Given the description of an element on the screen output the (x, y) to click on. 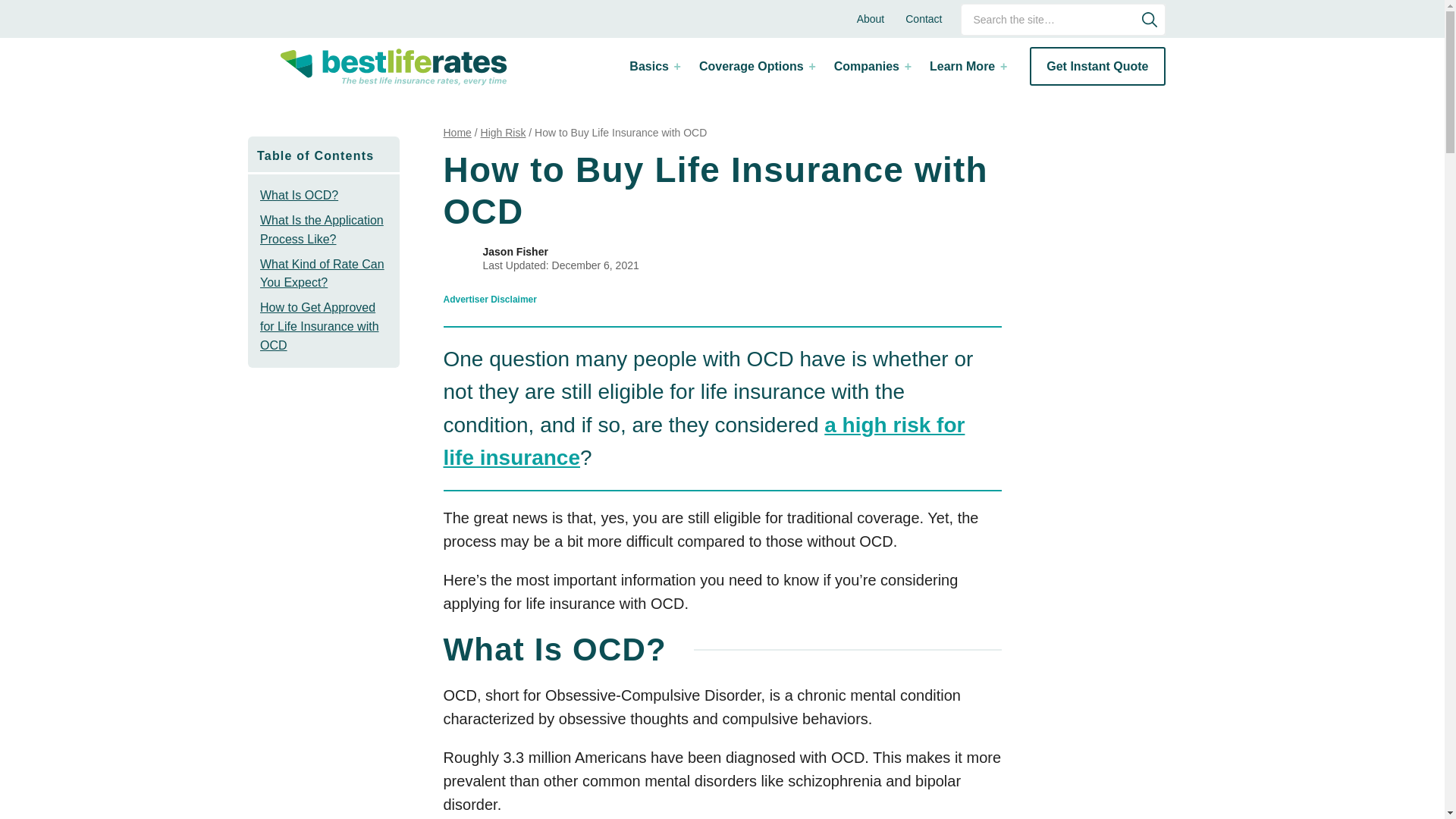
BestLifeRates.org (392, 66)
Companies (871, 66)
Basics (653, 66)
About (870, 18)
Learn More (966, 66)
Search for (1062, 19)
Coverage Options (756, 66)
Contact (923, 18)
